Given the description of an element on the screen output the (x, y) to click on. 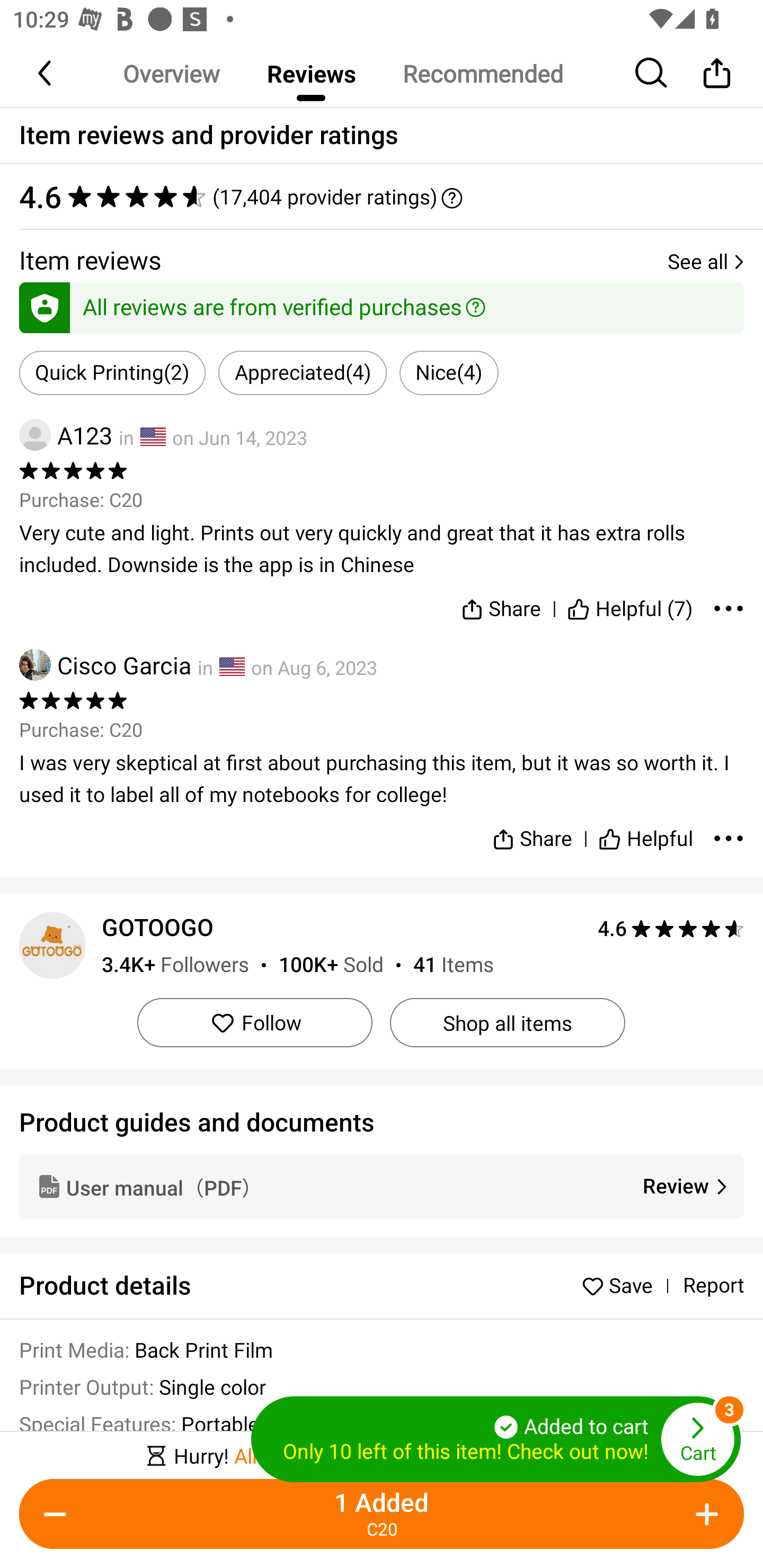
Overview (171, 72)
Reviews (311, 72)
Recommended (482, 72)
Back (46, 72)
Share (716, 72)
4.6 ‪(17,404 provider ratings) (381, 196)
All reviews are from verified purchases  (381, 303)
Quick Printing(2) (112, 373)
Appreciated(4) (302, 373)
Nice(4) (448, 373)
A123 (65, 434)
  Share (500, 605)
  Helpful (7) (629, 605)
Cisco Garcia (105, 664)
  Share (532, 830)
  Helpful (645, 830)
  Follow (254, 1022)
Shop all items (506, 1022)
User manual（PDF） Review (381, 1186)
Report (712, 1285)
 Save (621, 1285)
Decrease Quantity Button (59, 1513)
Add Quantity button (703, 1513)
